Given the description of an element on the screen output the (x, y) to click on. 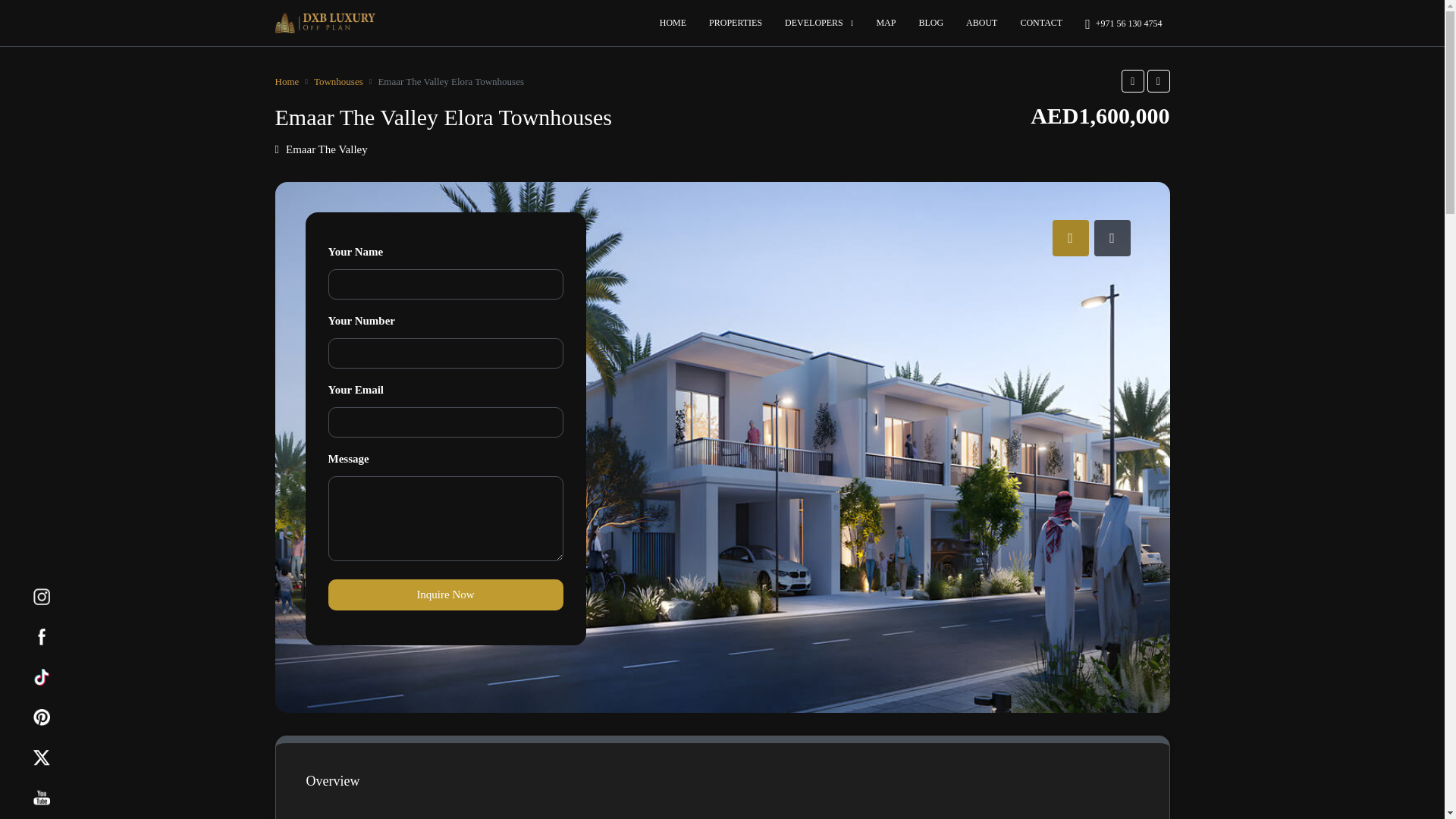
CONTACT (1041, 22)
Townhouses (338, 80)
Inquire Now (444, 594)
Pinterest (41, 717)
PROPERTIES (735, 22)
Tiktok (41, 677)
Twitter (41, 757)
HOME (672, 22)
ABOUT (982, 22)
Instagram (41, 596)
DEVELOPERS (818, 22)
YouTube (41, 797)
MAP (885, 22)
Facebook (41, 636)
BLOG (931, 22)
